Given the description of an element on the screen output the (x, y) to click on. 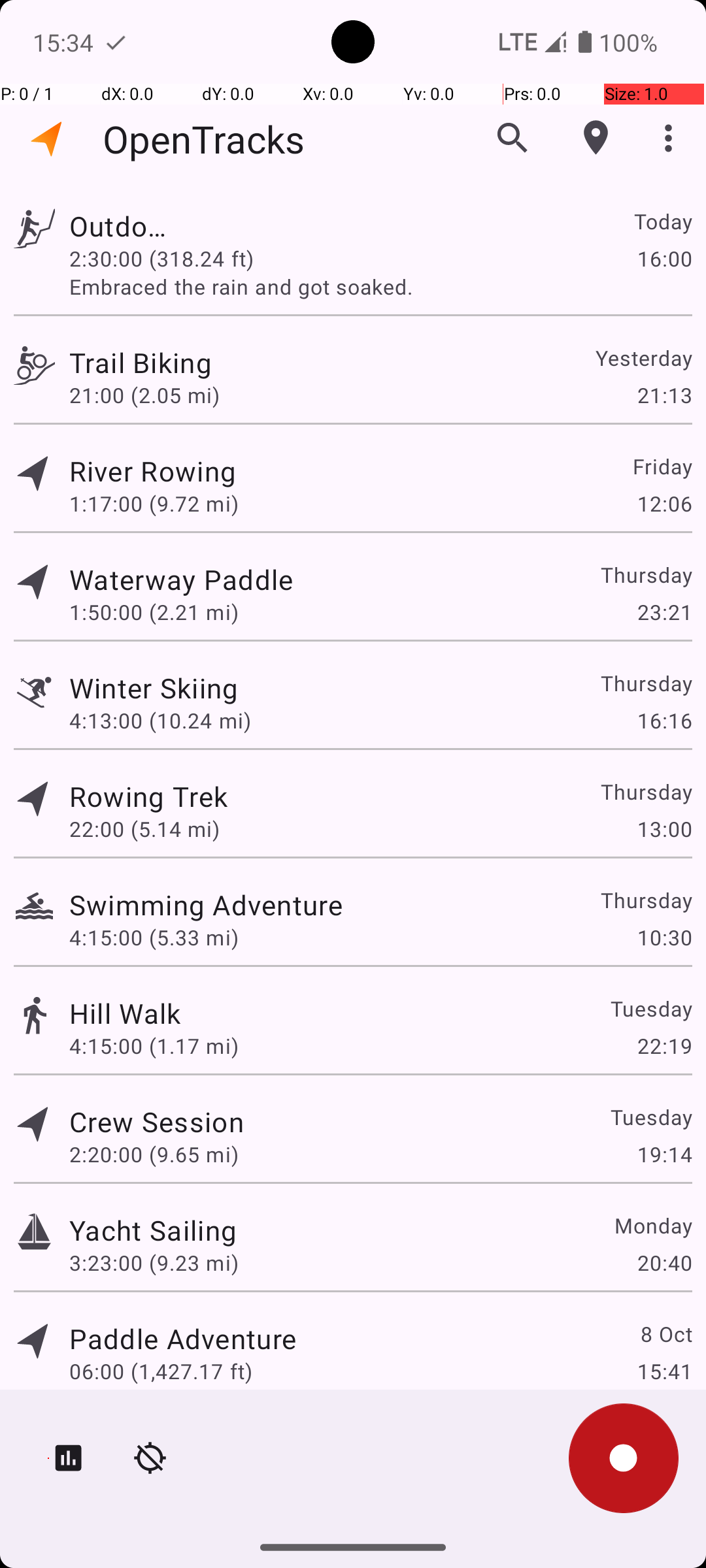
Outdoor Adventure Element type: android.widget.TextView (124, 225)
2:30:00 (318.24 ft) Element type: android.widget.TextView (161, 258)
Embraced the rain and got soaked. Element type: android.widget.TextView (380, 286)
Trail Biking Element type: android.widget.TextView (156, 361)
21:00 (2.05 mi) Element type: android.widget.TextView (153, 394)
21:13 Element type: android.widget.TextView (664, 394)
River Rowing Element type: android.widget.TextView (152, 470)
1:17:00 (9.72 mi) Element type: android.widget.TextView (153, 503)
12:06 Element type: android.widget.TextView (664, 503)
Waterway Paddle Element type: android.widget.TextView (182, 578)
1:50:00 (2.21 mi) Element type: android.widget.TextView (160, 611)
23:21 Element type: android.widget.TextView (664, 611)
Winter Skiing Element type: android.widget.TextView (153, 687)
4:13:00 (10.24 mi) Element type: android.widget.TextView (159, 720)
16:16 Element type: android.widget.TextView (664, 720)
Rowing Trek Element type: android.widget.TextView (148, 795)
22:00 (5.14 mi) Element type: android.widget.TextView (144, 828)
Swimming Adventure Element type: android.widget.TextView (205, 904)
4:15:00 (5.33 mi) Element type: android.widget.TextView (153, 937)
10:30 Element type: android.widget.TextView (664, 937)
Hill Walk Element type: android.widget.TextView (124, 1012)
4:15:00 (1.17 mi) Element type: android.widget.TextView (153, 1045)
22:19 Element type: android.widget.TextView (664, 1045)
Crew Session Element type: android.widget.TextView (156, 1121)
2:20:00 (9.65 mi) Element type: android.widget.TextView (153, 1154)
19:14 Element type: android.widget.TextView (664, 1154)
Yacht Sailing Element type: android.widget.TextView (152, 1229)
3:23:00 (9.23 mi) Element type: android.widget.TextView (153, 1262)
20:40 Element type: android.widget.TextView (664, 1262)
Paddle Adventure Element type: android.widget.TextView (182, 1337)
06:00 (1,427.17 ft) Element type: android.widget.TextView (160, 1370)
15:41 Element type: android.widget.TextView (664, 1370)
